Given the description of an element on the screen output the (x, y) to click on. 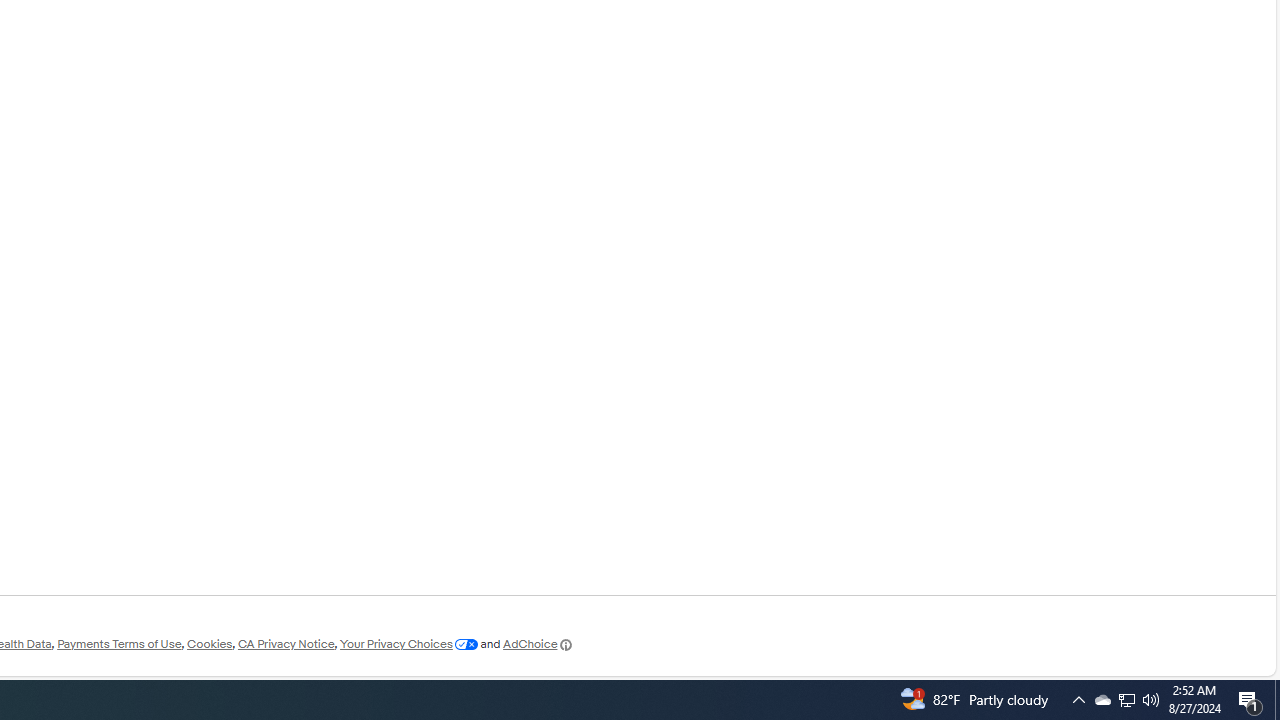
AdChoice (538, 644)
Your Privacy Choices (408, 644)
Cookies (209, 644)
CA Privacy Notice (285, 644)
Payments Terms of Use (119, 644)
